Given the description of an element on the screen output the (x, y) to click on. 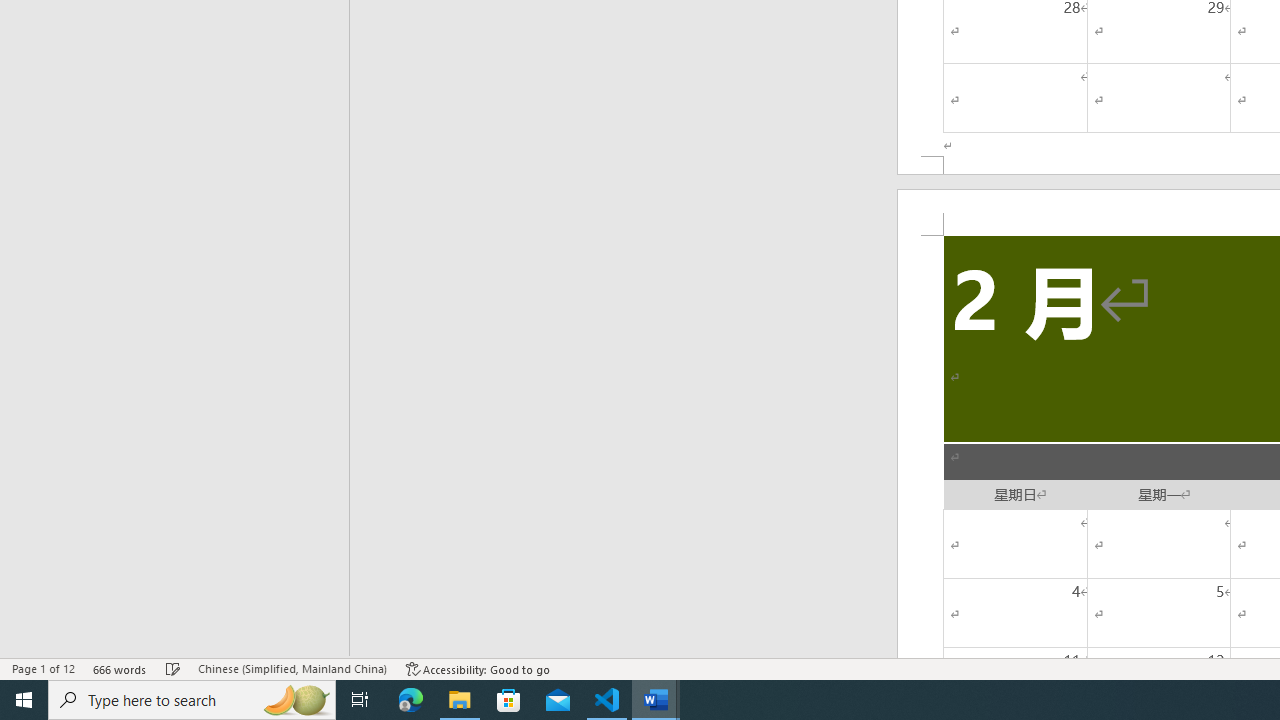
Page Number Page 1 of 12 (43, 668)
